Given the description of an element on the screen output the (x, y) to click on. 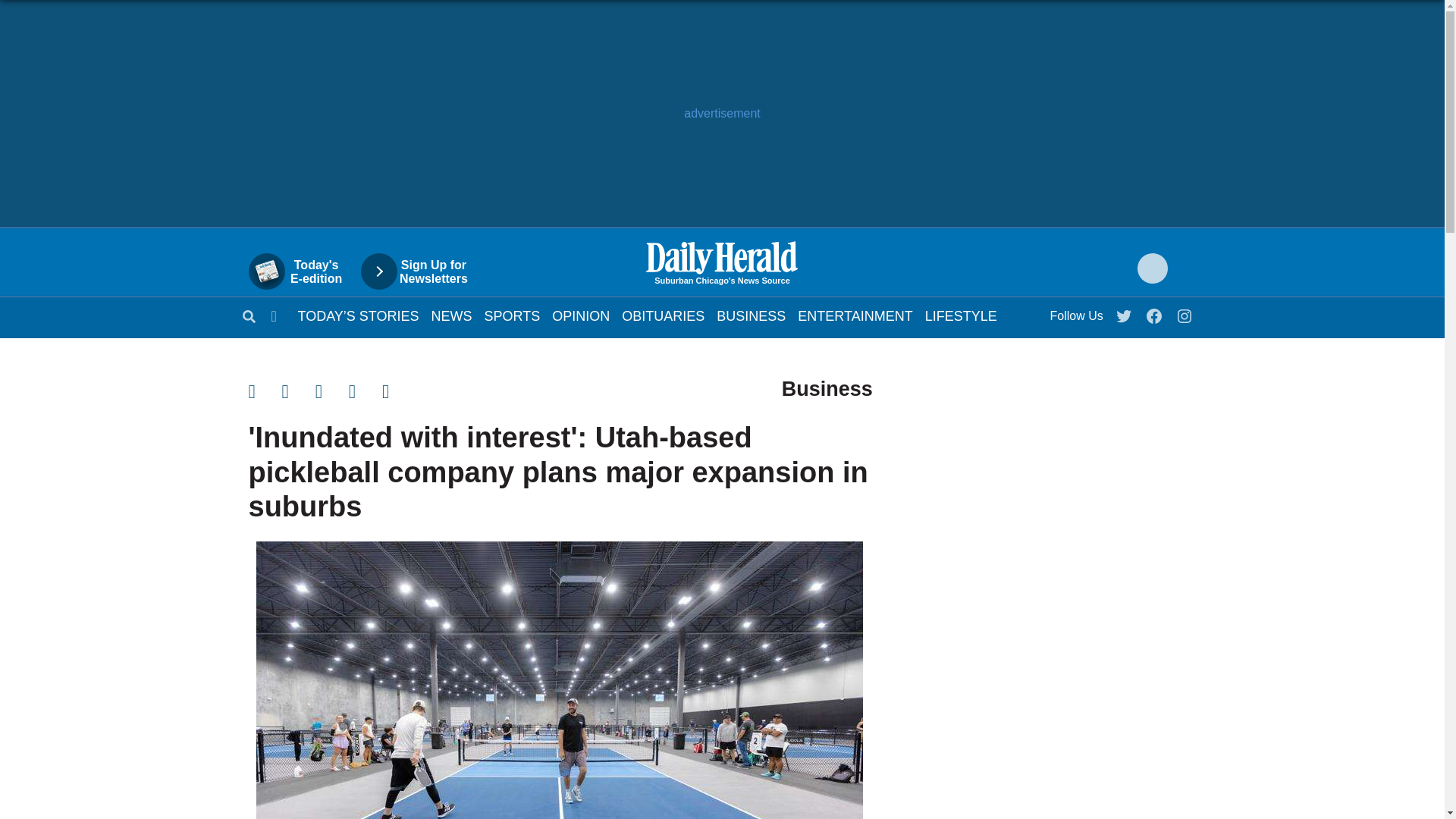
Sports (512, 315)
OBITUARIES (662, 315)
Instagram (1184, 312)
Share via Email (332, 391)
LIFESTYLE (960, 315)
Today's Stories (358, 315)
NEWS (450, 315)
Twitter (1124, 312)
Opinion (580, 315)
Sign Up for Newsletters (421, 271)
